Given the description of an element on the screen output the (x, y) to click on. 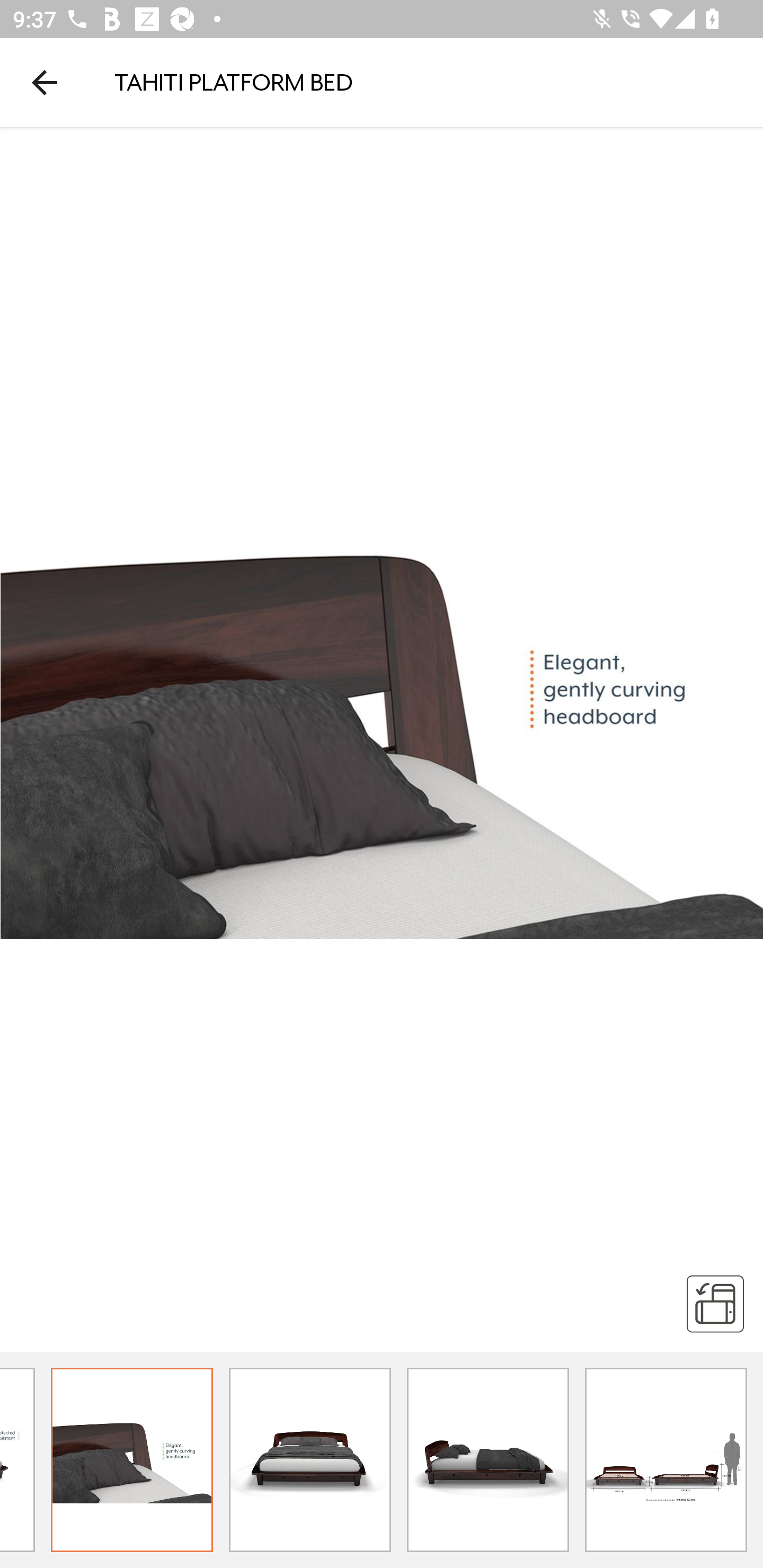
Navigate up (44, 82)
 (715, 1302)
